Given the description of an element on the screen output the (x, y) to click on. 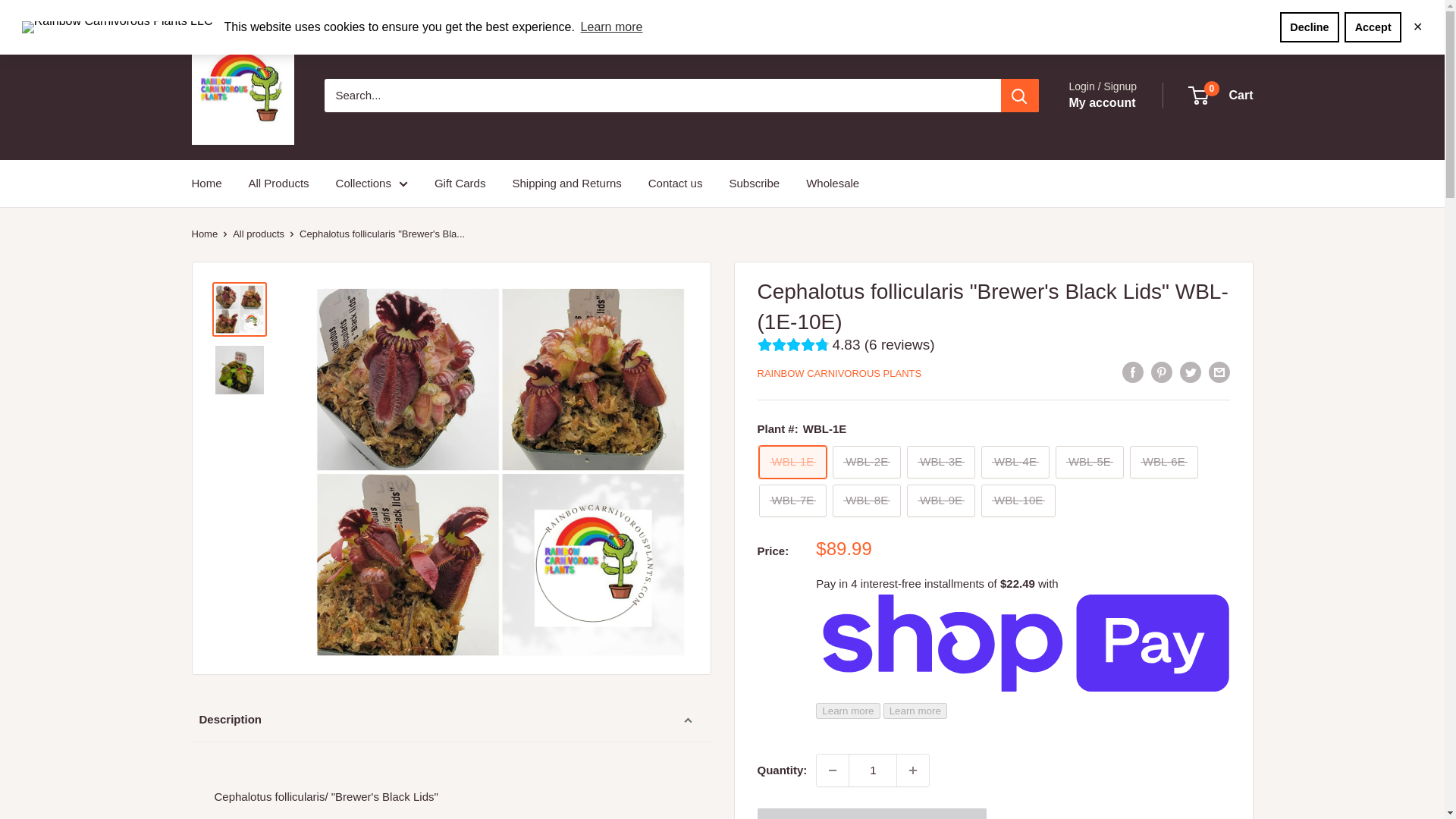
WBL-7E (792, 500)
Rainbow Carnivorous Plants LLC (242, 94)
WBL-9E (941, 500)
Decrease quantity by 1 (832, 770)
WBL-3E (941, 461)
WBL-2E (866, 461)
Learn more (611, 26)
WBL-8E (866, 500)
WBL-4E (1015, 461)
WBL-1E (792, 461)
